Given the description of an element on the screen output the (x, y) to click on. 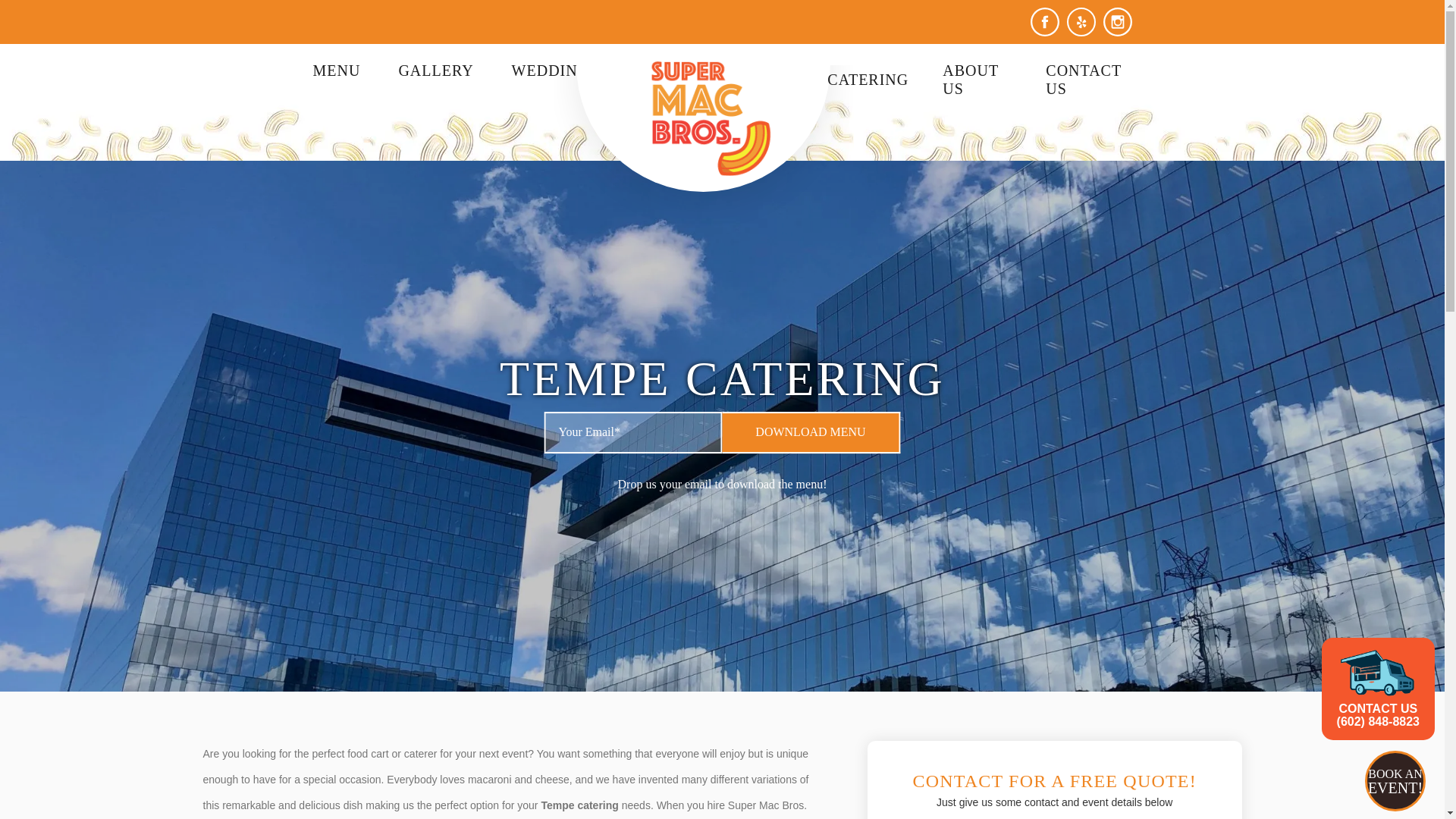
DOWNLOAD MENU (810, 432)
Super Mac Bros (710, 118)
DOWNLOAD MENU (810, 432)
MENU (336, 70)
ABOUT US (970, 79)
CONTACT US (1083, 79)
WEDDINGS (555, 70)
GALLERY (435, 70)
CATERING (867, 79)
